Given the description of an element on the screen output the (x, y) to click on. 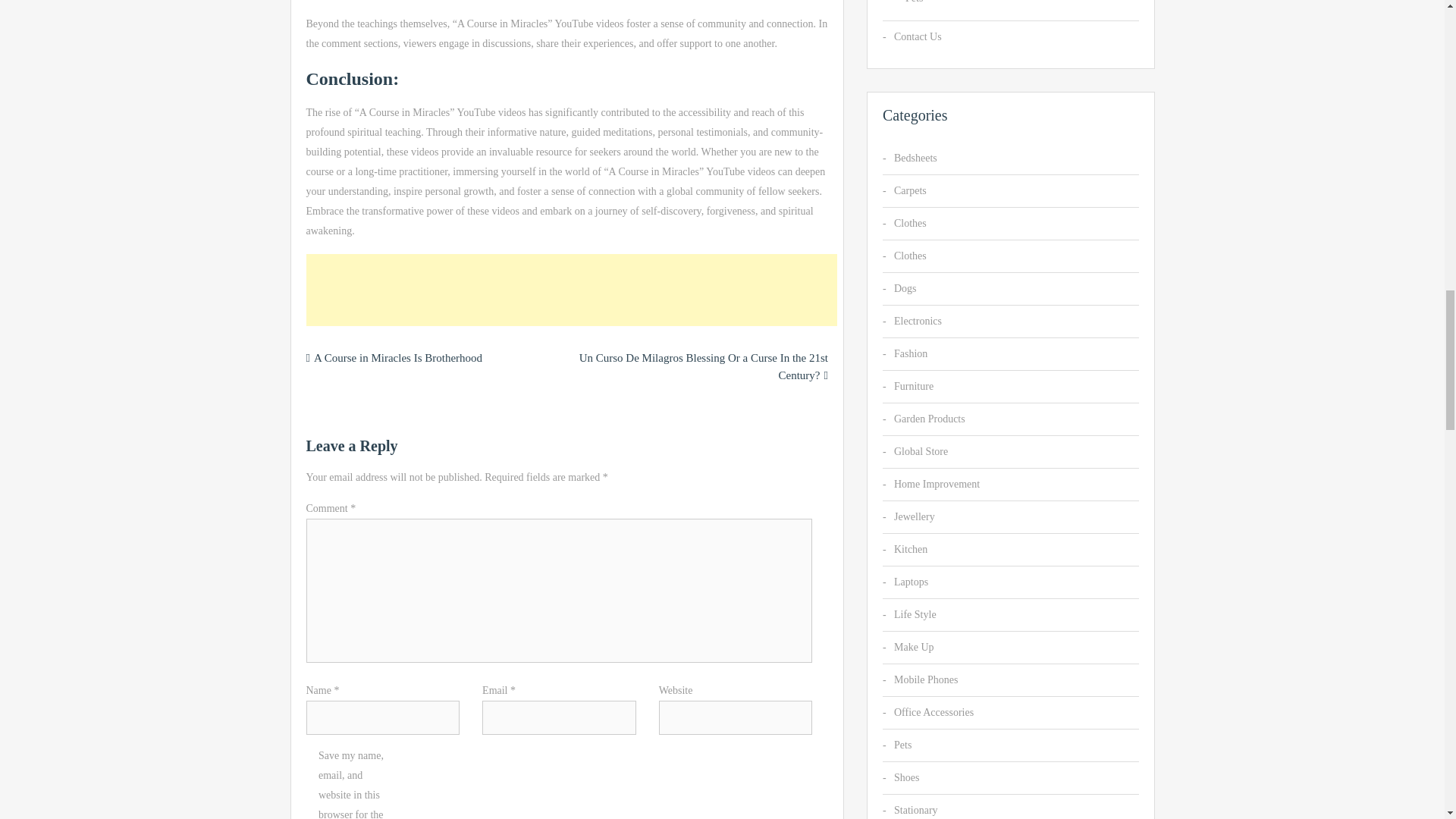
A Course in Miracles Is Brotherhood (397, 357)
